Given the description of an element on the screen output the (x, y) to click on. 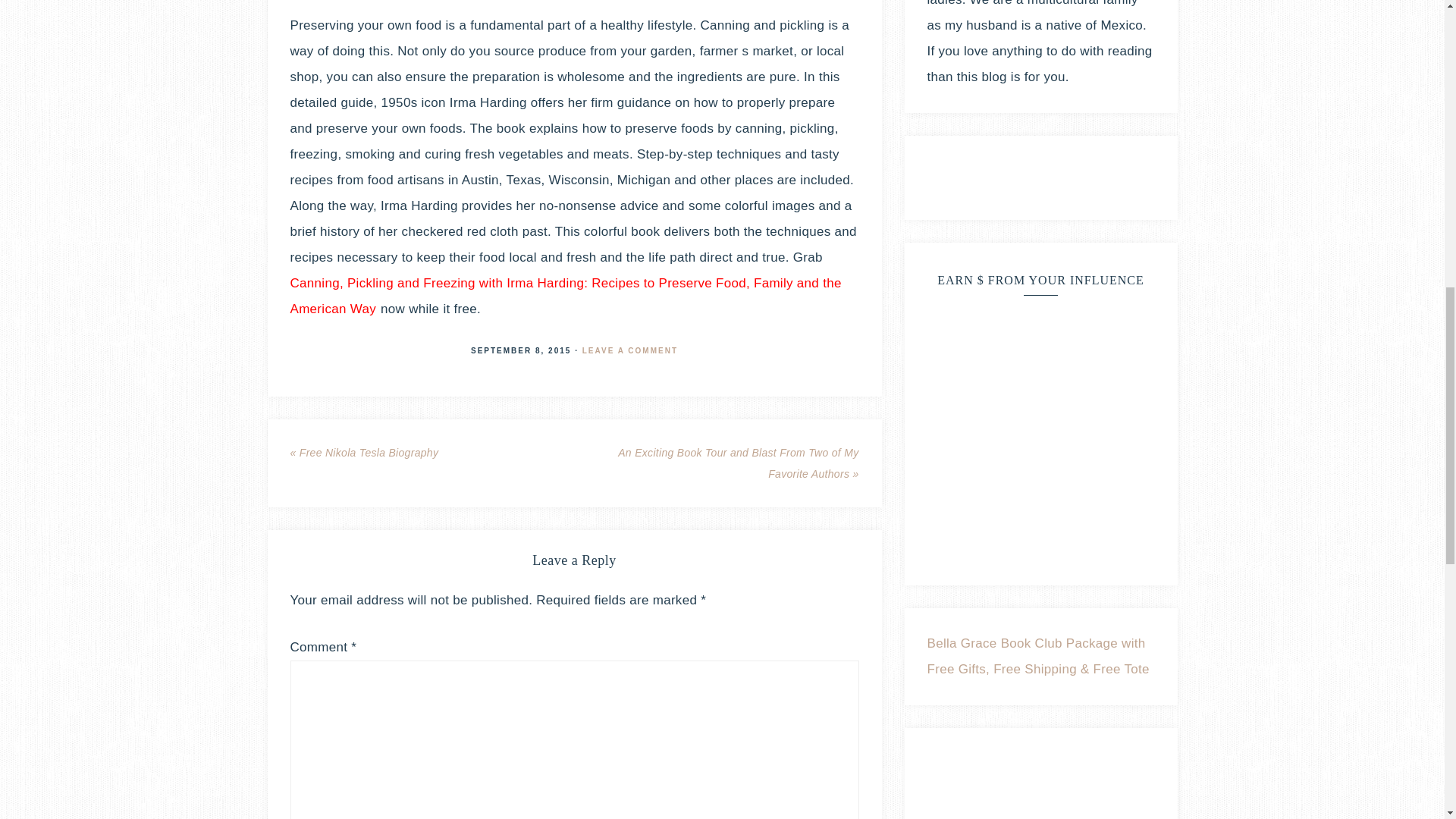
LEAVE A COMMENT (630, 349)
